Given the description of an element on the screen output the (x, y) to click on. 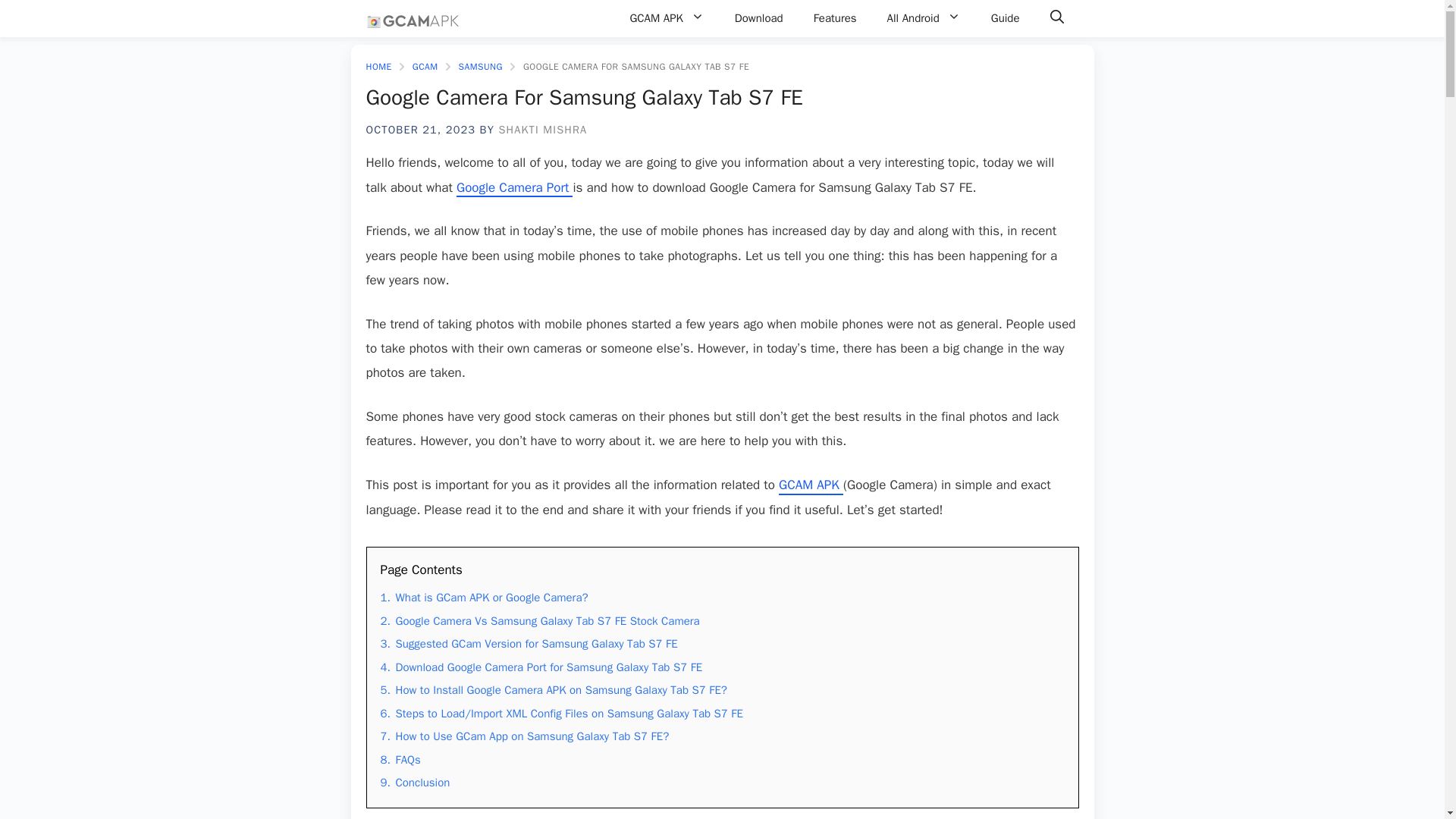
SAMSUNG (480, 66)
3. Suggested GCam Version for Samsung Galaxy Tab S7 FE (529, 644)
Download (758, 18)
Google Camera Port (514, 188)
HOME (378, 66)
GCAM (425, 66)
9. Conclusion (414, 782)
View all posts by Shakti Mishra (541, 129)
1. What is GCam APK or Google Camera? (484, 597)
GCAM Apk (413, 18)
SHAKTI MISHRA (541, 129)
4. Download Google Camera Port for Samsung Galaxy Tab S7 FE (541, 667)
7. How to Use GCam App on Samsung Galaxy Tab S7 FE? (524, 736)
Features (834, 18)
